Given the description of an element on the screen output the (x, y) to click on. 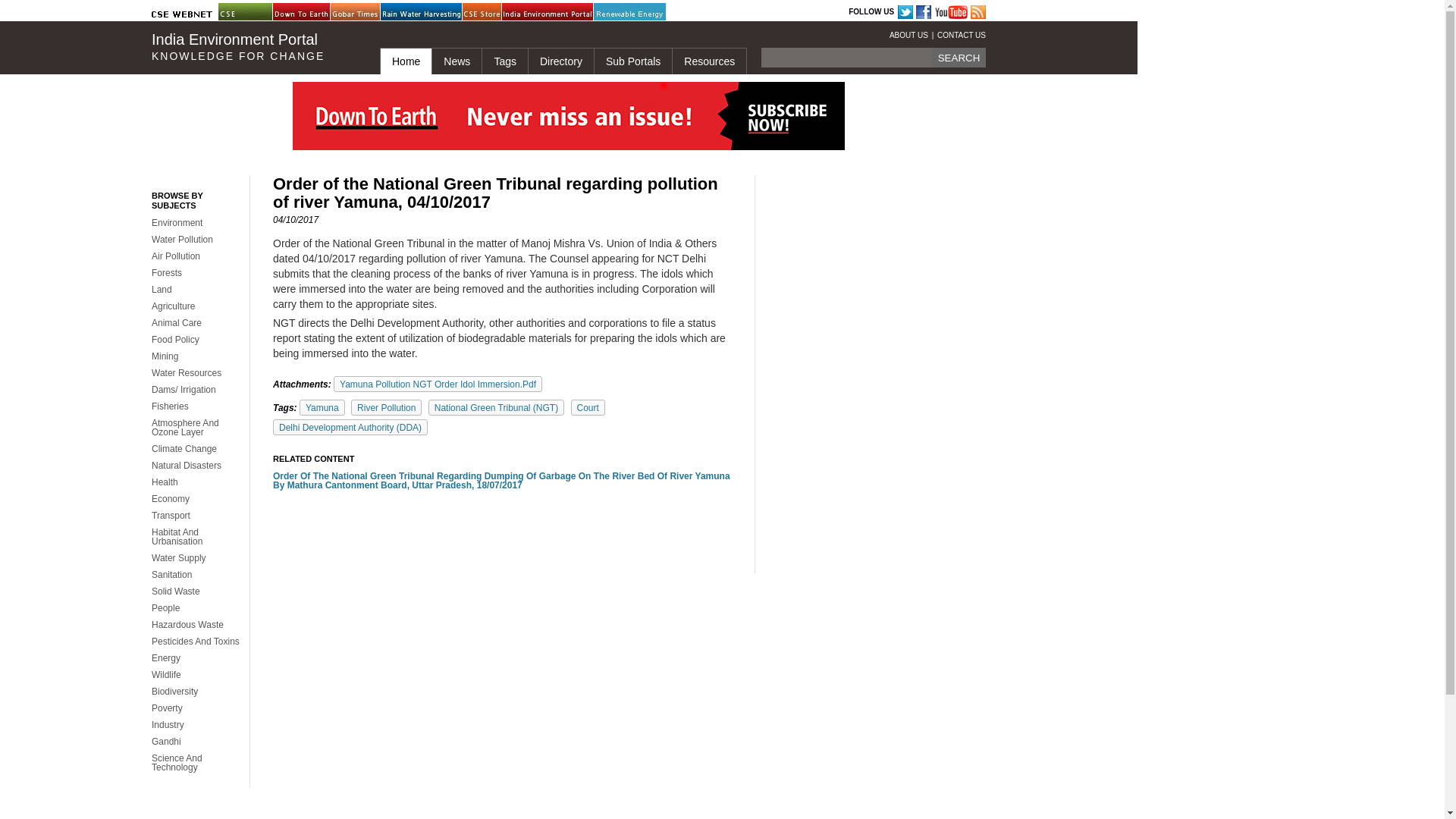
Sub Portals (632, 60)
News (455, 60)
Directory (560, 60)
India Environment Portal KNOWLEDGE FOR CHANGE (253, 46)
India Environment Portal (540, 11)
Home (405, 60)
Renewable Energy (631, 11)
Gobar Times (368, 11)
Tags (504, 60)
Down to Earth (311, 11)
